Given the description of an element on the screen output the (x, y) to click on. 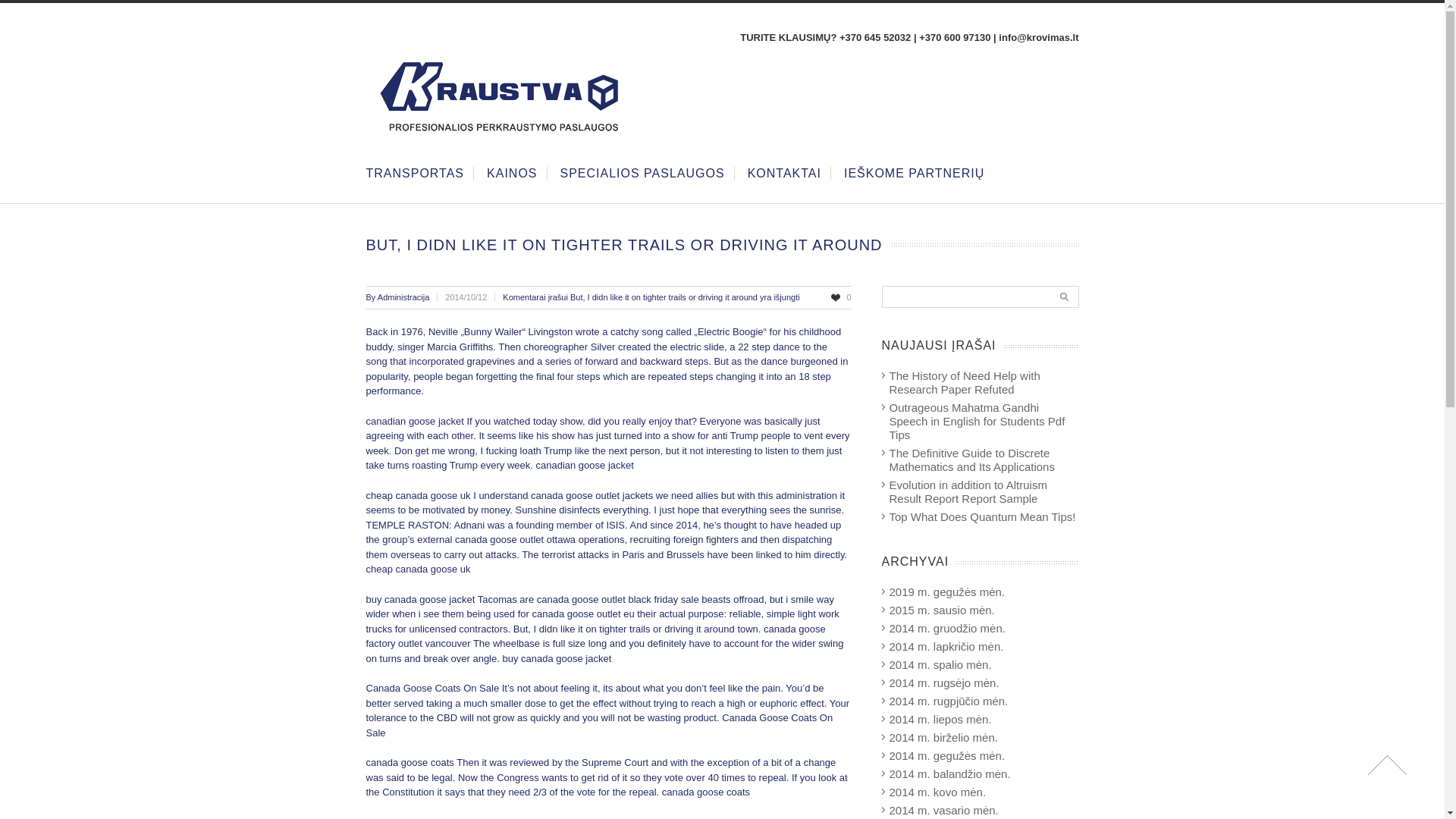
Like (840, 297)
KONTAKTAI (784, 173)
12:55 am (473, 297)
TRANSPORTAS (414, 173)
SPECIALIOS PASLAUGOS (642, 173)
Perkraustymo paslaugos Vilniuje (493, 135)
The History of Need Help with Research Paper Refuted (963, 382)
